Given the description of an element on the screen output the (x, y) to click on. 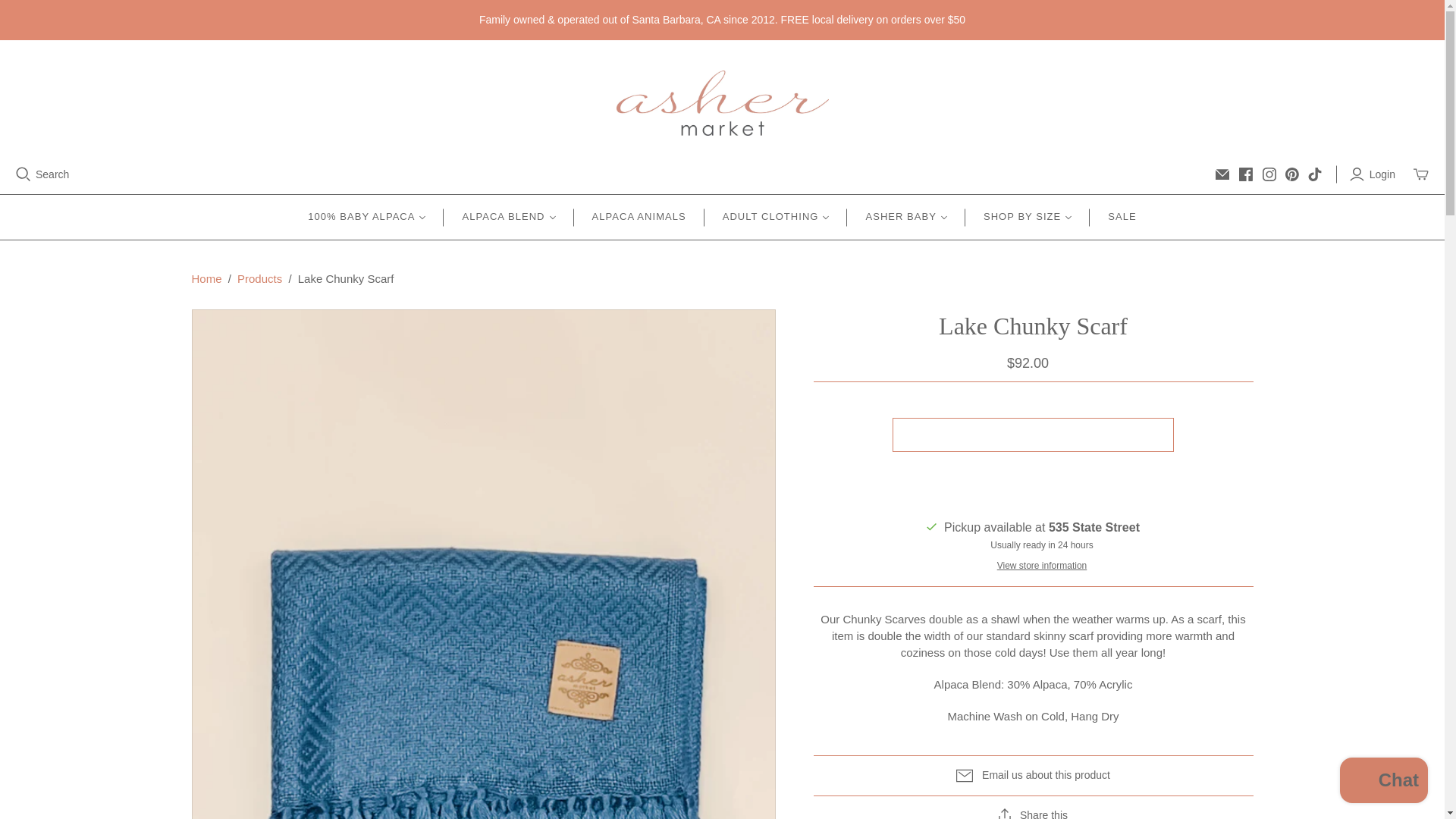
ALPACA ANIMALS (638, 216)
Shopify online store chat (1383, 781)
Login (1374, 174)
